Given the description of an element on the screen output the (x, y) to click on. 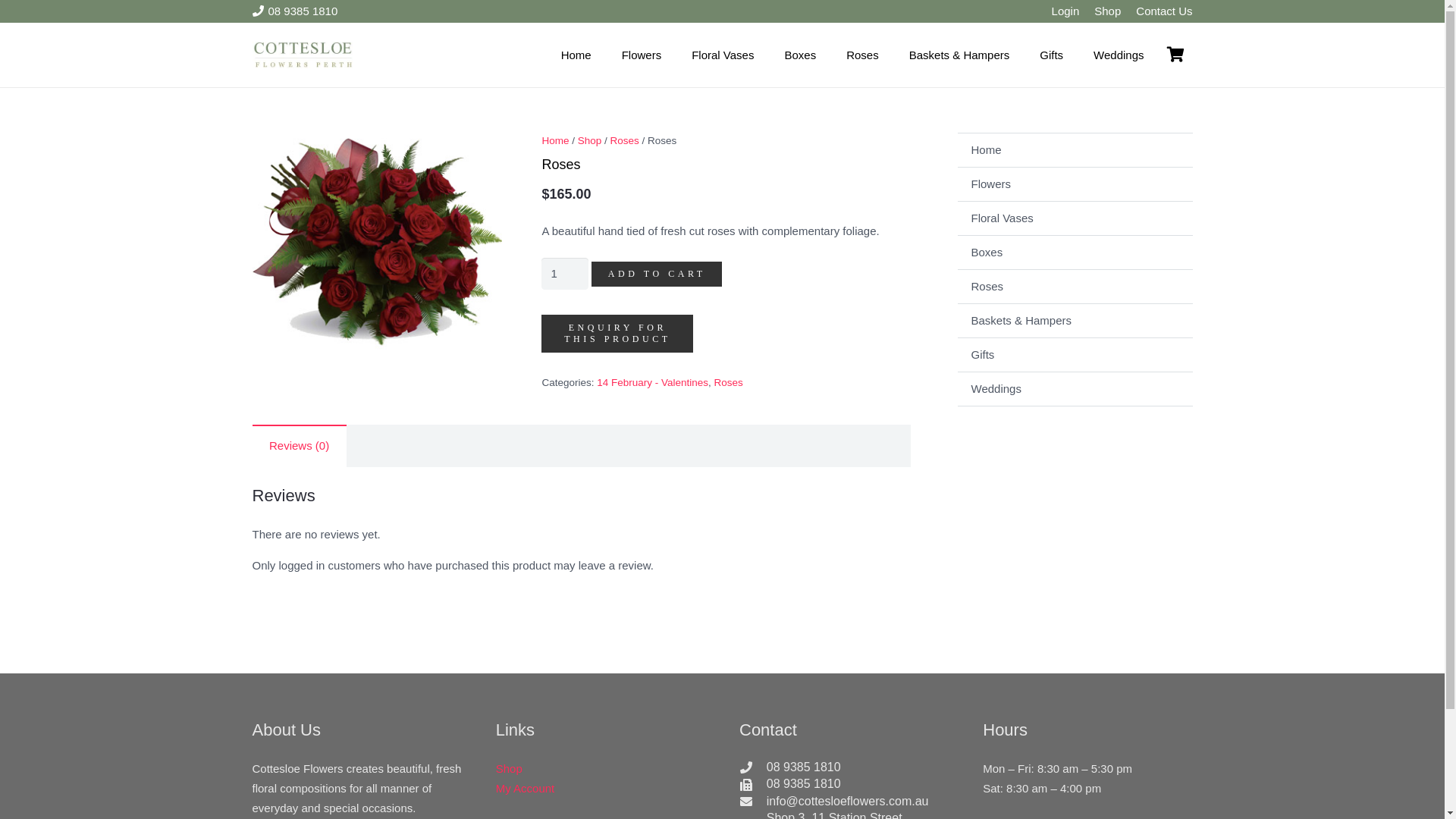
Shop Element type: text (1107, 10)
Home Element type: text (554, 140)
Weddings Element type: text (1074, 388)
Roses Element type: text (728, 382)
Floral Vases Element type: text (722, 55)
Shop Element type: text (589, 140)
Boxes Element type: text (1074, 252)
ADD TO CART Element type: text (656, 274)
My Account Element type: text (525, 787)
Gifts Element type: text (1074, 354)
Gifts Element type: text (1051, 55)
roses Element type: hover (376, 241)
Contact Us Element type: text (1163, 10)
14 February - Valentines Element type: text (652, 382)
Baskets & Hampers Element type: text (1074, 320)
Flowers Element type: text (1074, 183)
Floral Vases Element type: text (1074, 217)
Weddings Element type: text (1118, 55)
Roses Element type: text (623, 140)
Baskets & Hampers Element type: text (959, 55)
Reviews (0) Element type: text (298, 445)
Flowers Element type: text (641, 55)
Home Element type: text (1074, 149)
0 Element type: text (1175, 54)
Qty Element type: hover (564, 273)
Login Element type: text (1065, 10)
Home Element type: text (576, 55)
Shop Element type: text (508, 768)
Boxes Element type: text (799, 55)
Roses Element type: text (862, 55)
Roses Element type: text (1074, 286)
